Given the description of an element on the screen output the (x, y) to click on. 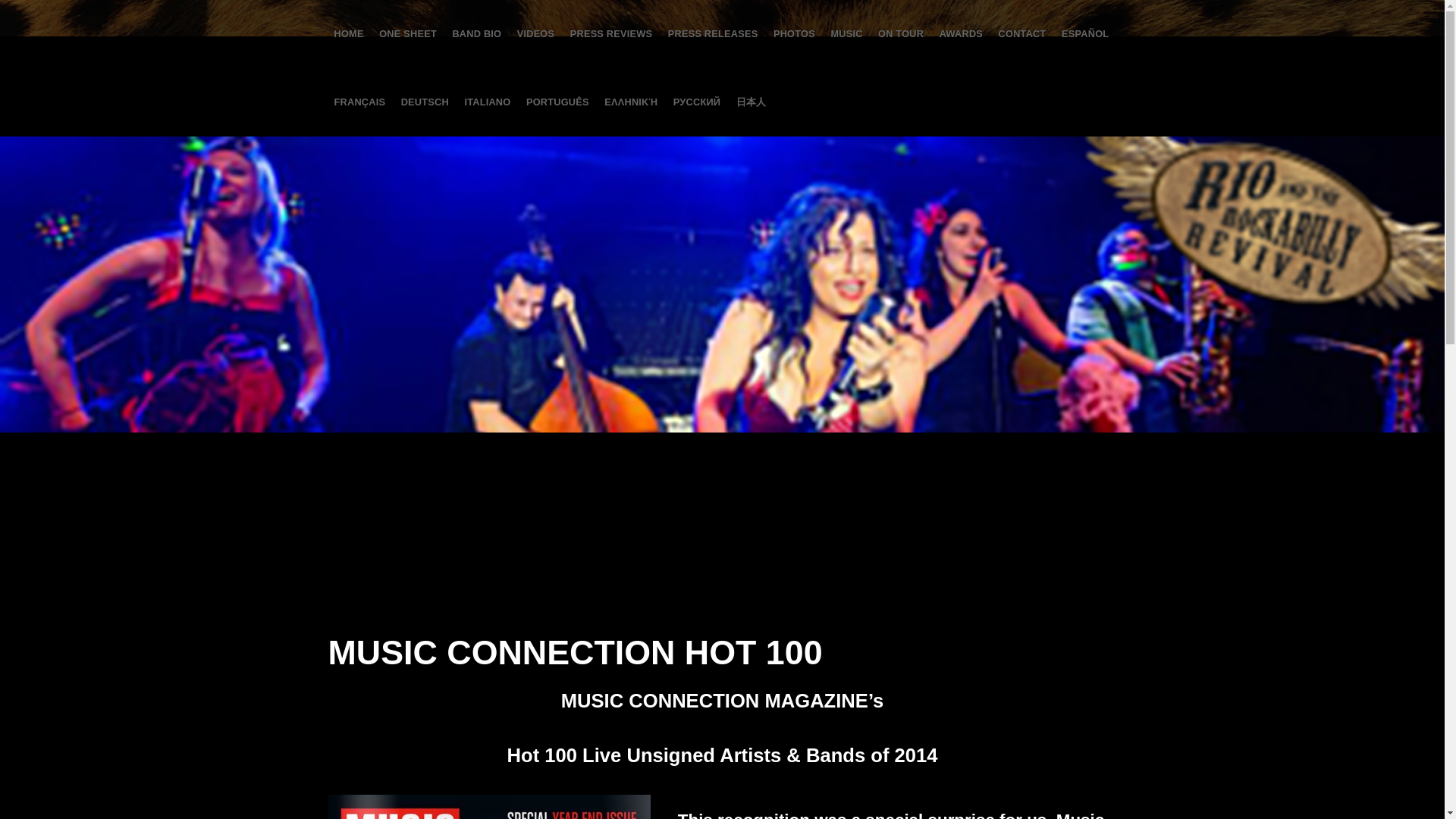
PRESS RELEASES (713, 33)
ONE SHEET (407, 33)
BAND BIO (475, 33)
PRESS REVIEWS (611, 33)
